Given the description of an element on the screen output the (x, y) to click on. 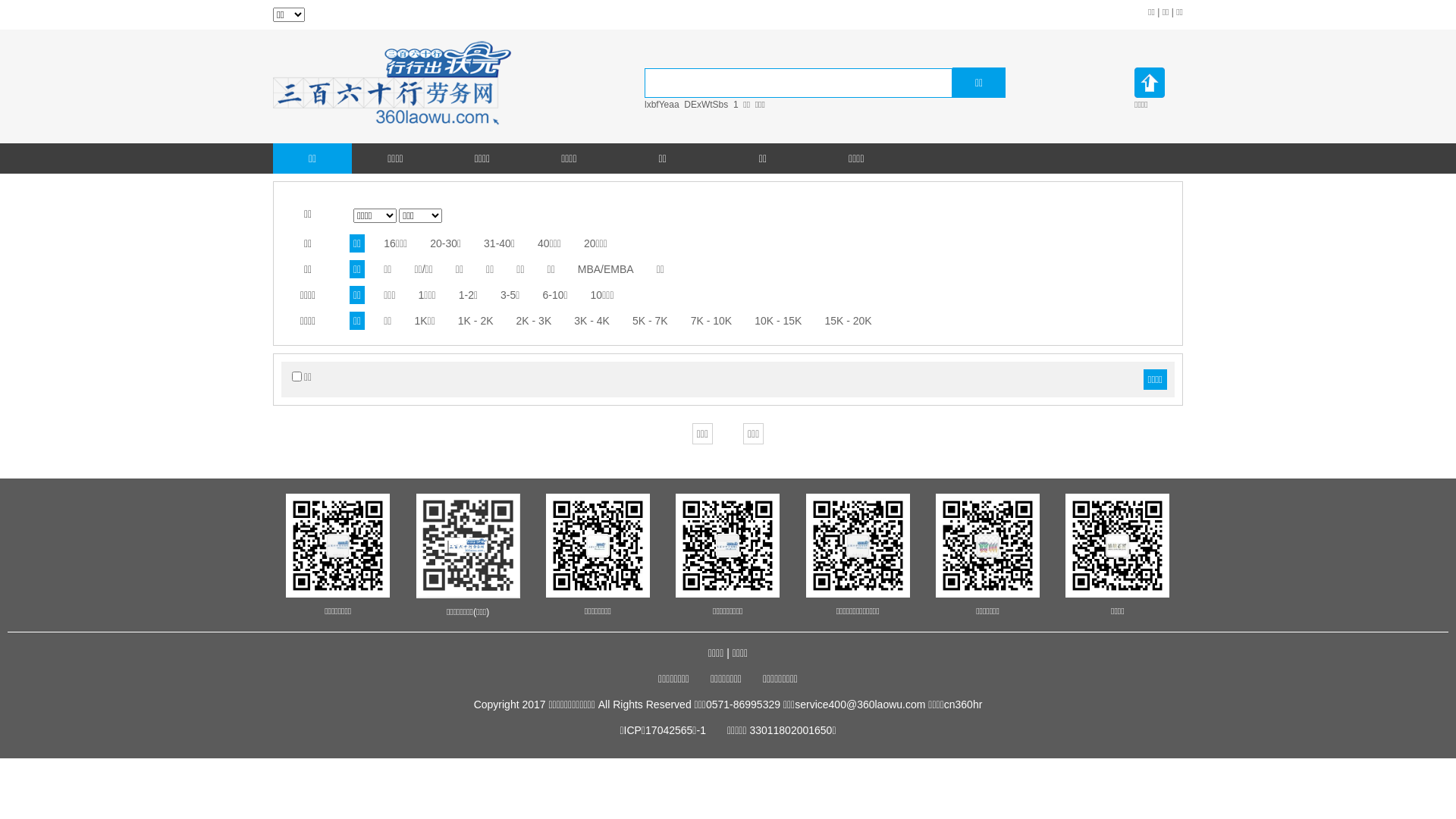
MBA/EMBA Element type: text (605, 269)
15K - 20K Element type: text (847, 320)
7K - 10K Element type: text (710, 320)
2K - 3K Element type: text (534, 320)
1K - 2K Element type: text (475, 320)
3K - 4K Element type: text (591, 320)
10K - 15K Element type: text (777, 320)
5K - 7K Element type: text (650, 320)
